Given the description of an element on the screen output the (x, y) to click on. 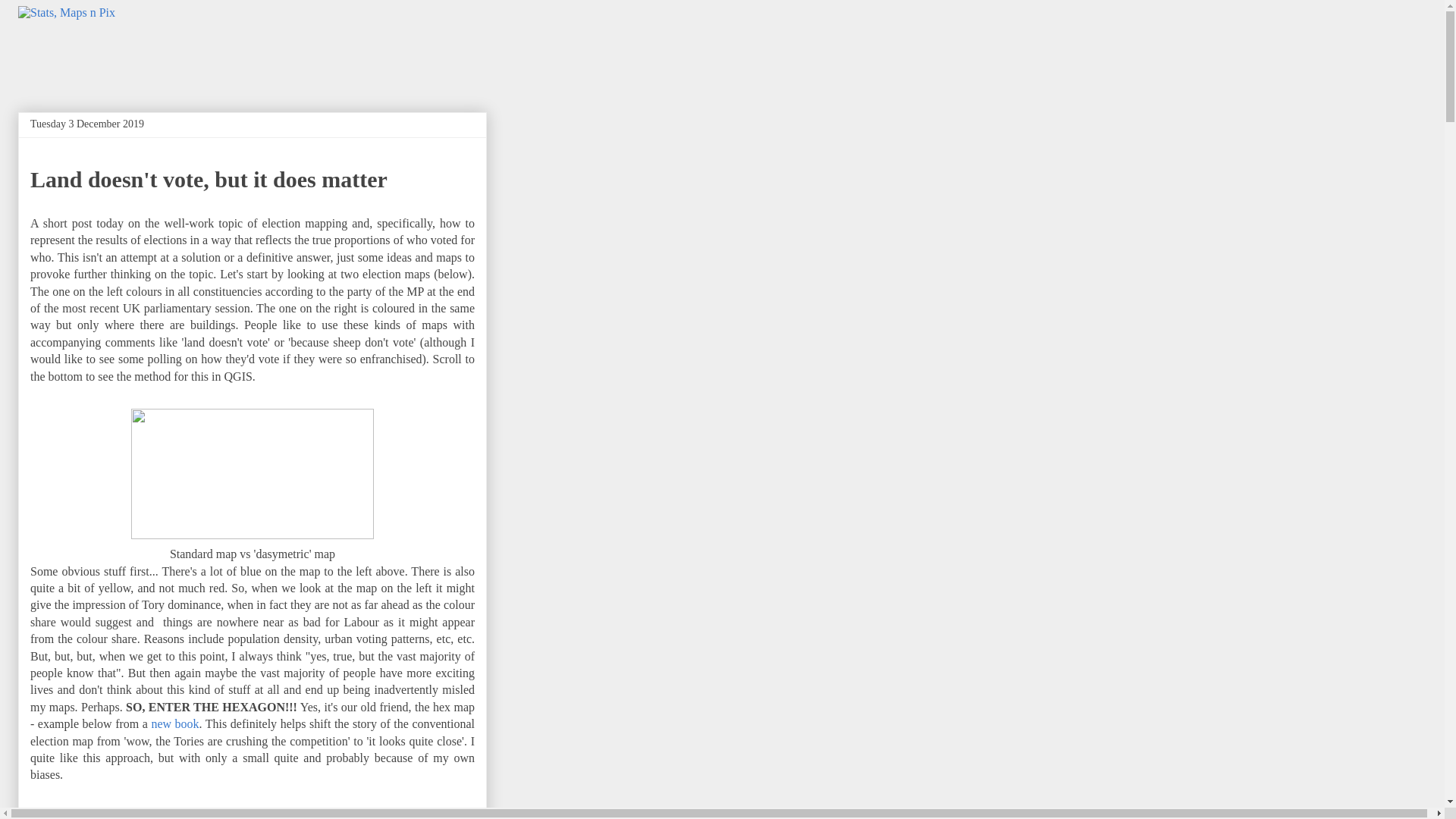
new book (174, 723)
